Given the description of an element on the screen output the (x, y) to click on. 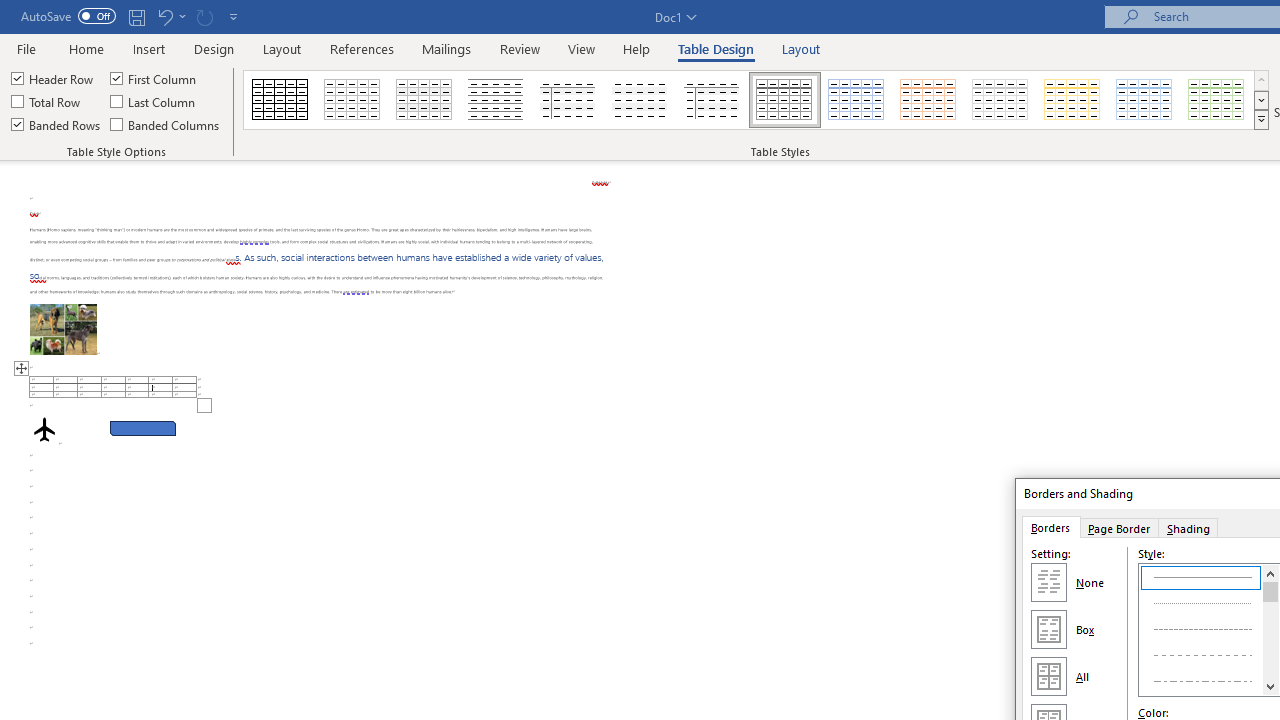
Banded Rows (57, 124)
AutoSave (68, 16)
Last Column (154, 101)
Undo Row Height Spinner (164, 15)
Grid Table 1 Light - Accent 4 (1072, 100)
More Options (182, 15)
Mailings (447, 48)
Quick Access Toolbar (131, 16)
None (1048, 582)
Row up (1261, 79)
Table Grid Light (353, 100)
Layout (801, 48)
Help (637, 48)
